Given the description of an element on the screen output the (x, y) to click on. 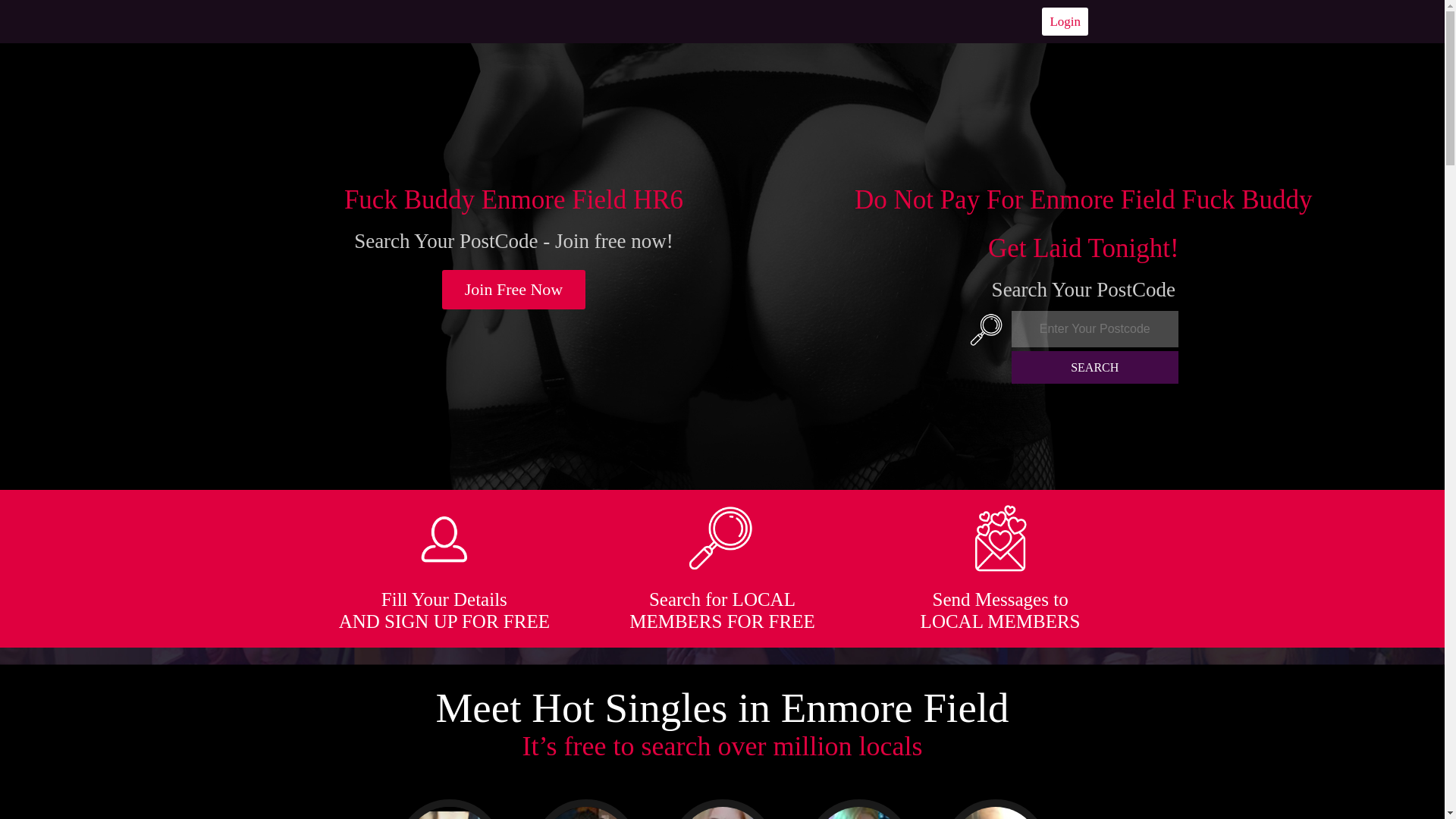
Login (1064, 21)
Join (514, 289)
Join Free Now (514, 289)
SEARCH (1094, 367)
Login (1064, 21)
